Given the description of an element on the screen output the (x, y) to click on. 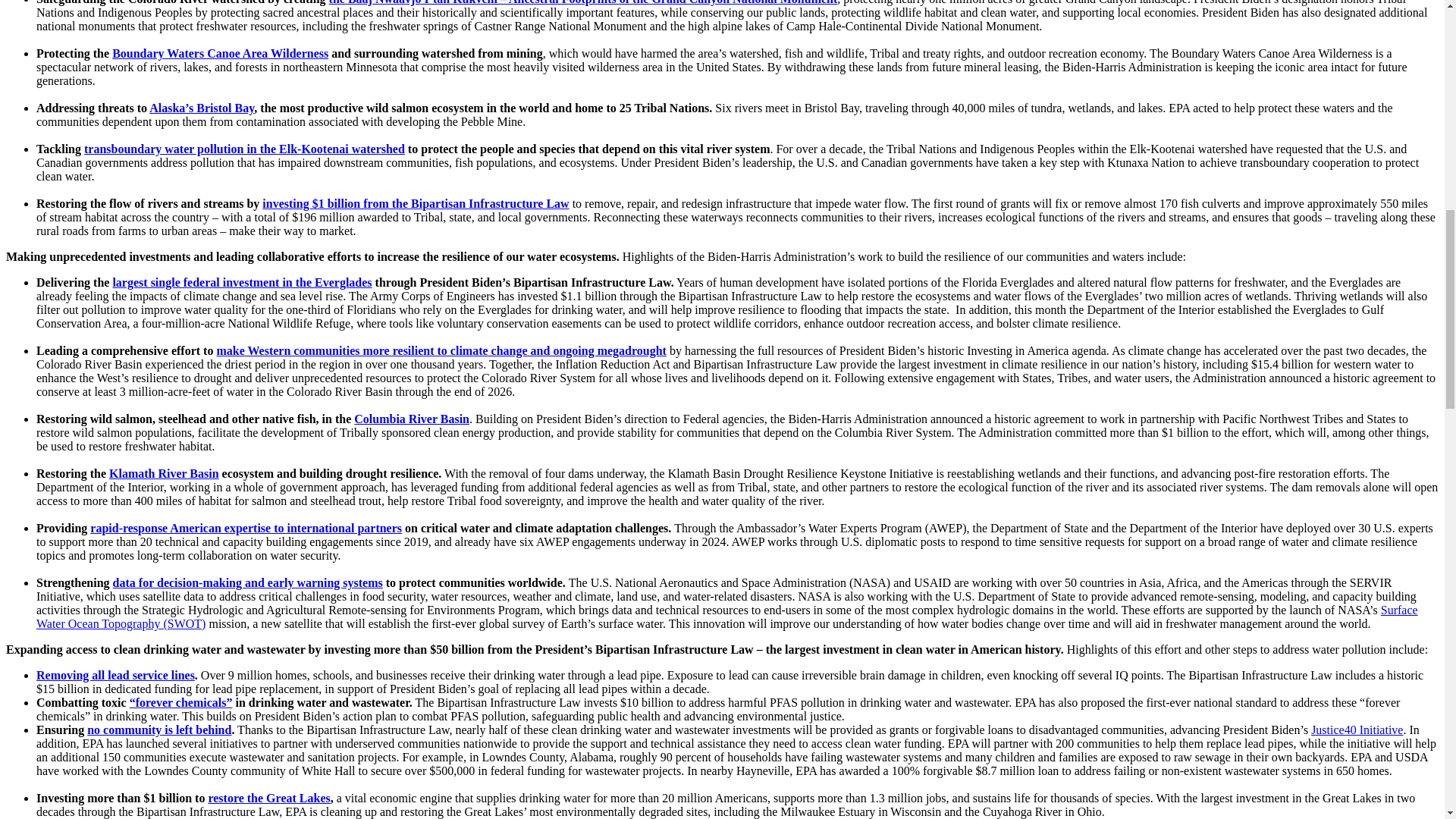
transboundary water pollution in the Elk-Kootenai watershed (244, 148)
Columbia River Basin (410, 418)
Klamath River Basin (164, 472)
Boundary Waters Canoe Area Wilderness (220, 52)
rapid-response American expertise to international partners (245, 527)
data for decision-making and early warning systems (247, 582)
largest single federal investment in the Everglades (241, 282)
